Given the description of an element on the screen output the (x, y) to click on. 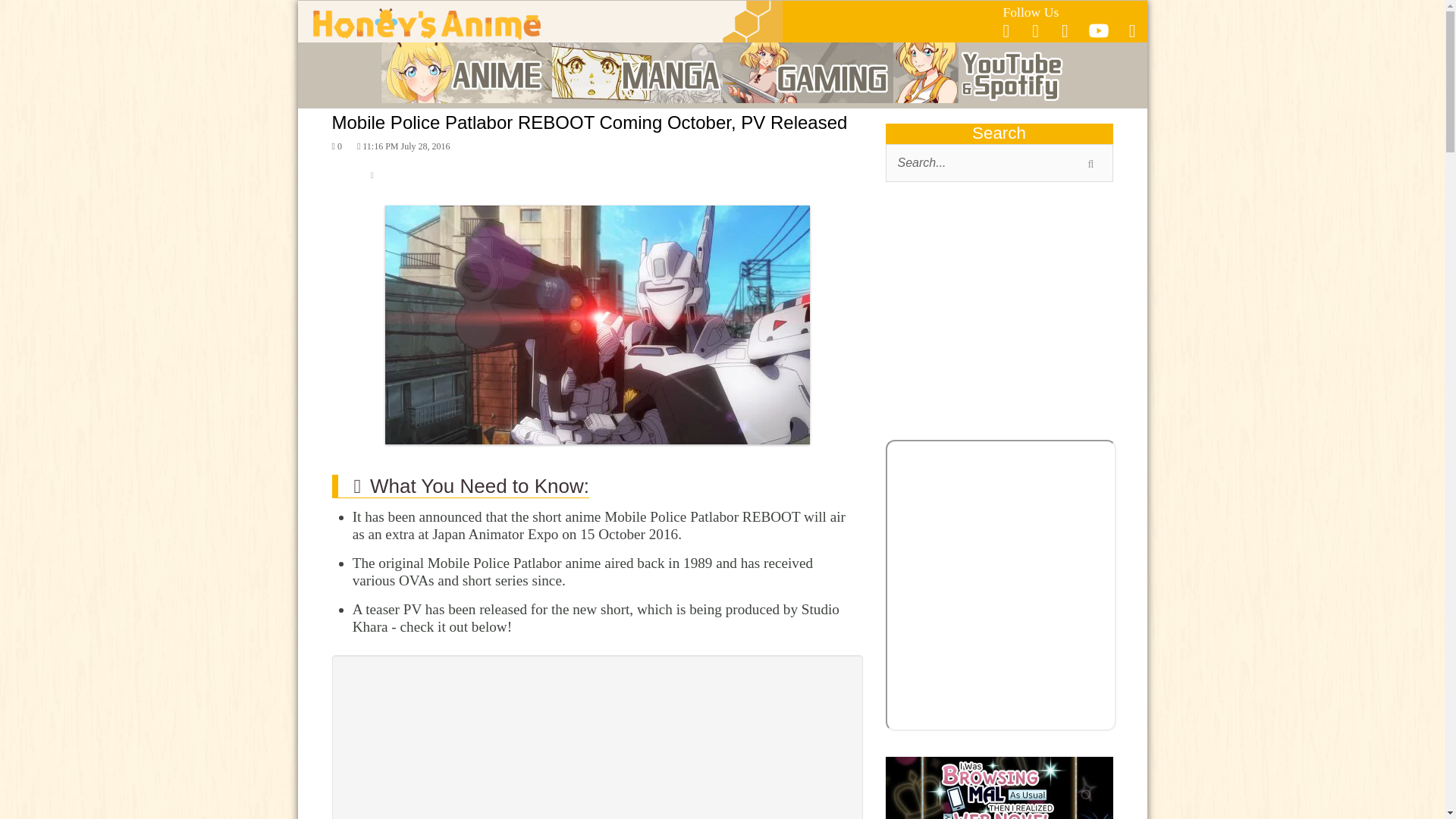
banner-honeyfeed-malcontest (999, 787)
Search... (999, 162)
Advertisement (999, 313)
Our Youtube (1098, 35)
Search... (999, 162)
